Given the description of an element on the screen output the (x, y) to click on. 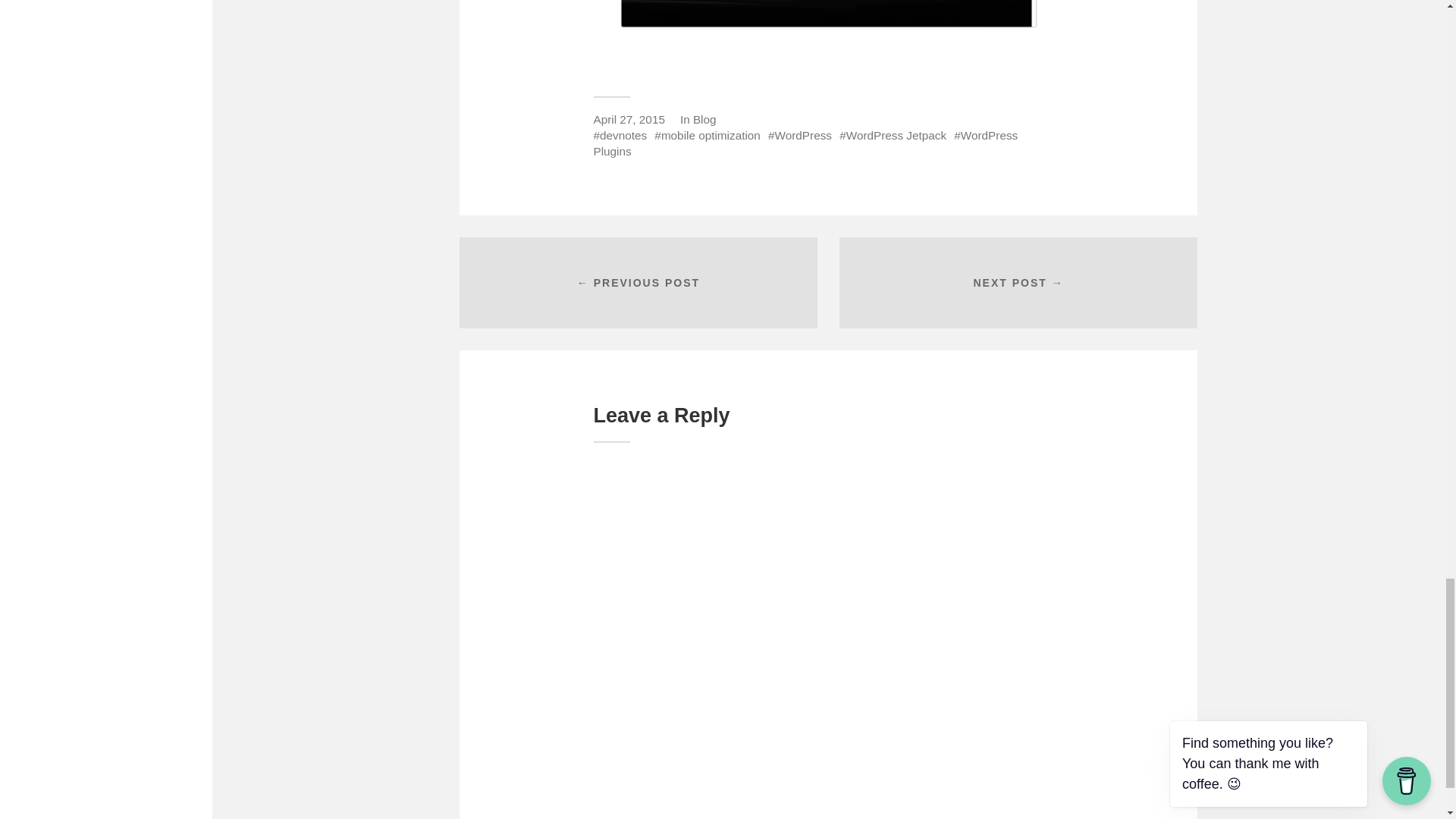
April 27, 2015 (627, 119)
WordPress Jetpack (893, 134)
devnotes (619, 134)
Blog (704, 119)
mobile optimization (706, 134)
WordPress Plugins (804, 143)
WordPress (799, 134)
